Given the description of an element on the screen output the (x, y) to click on. 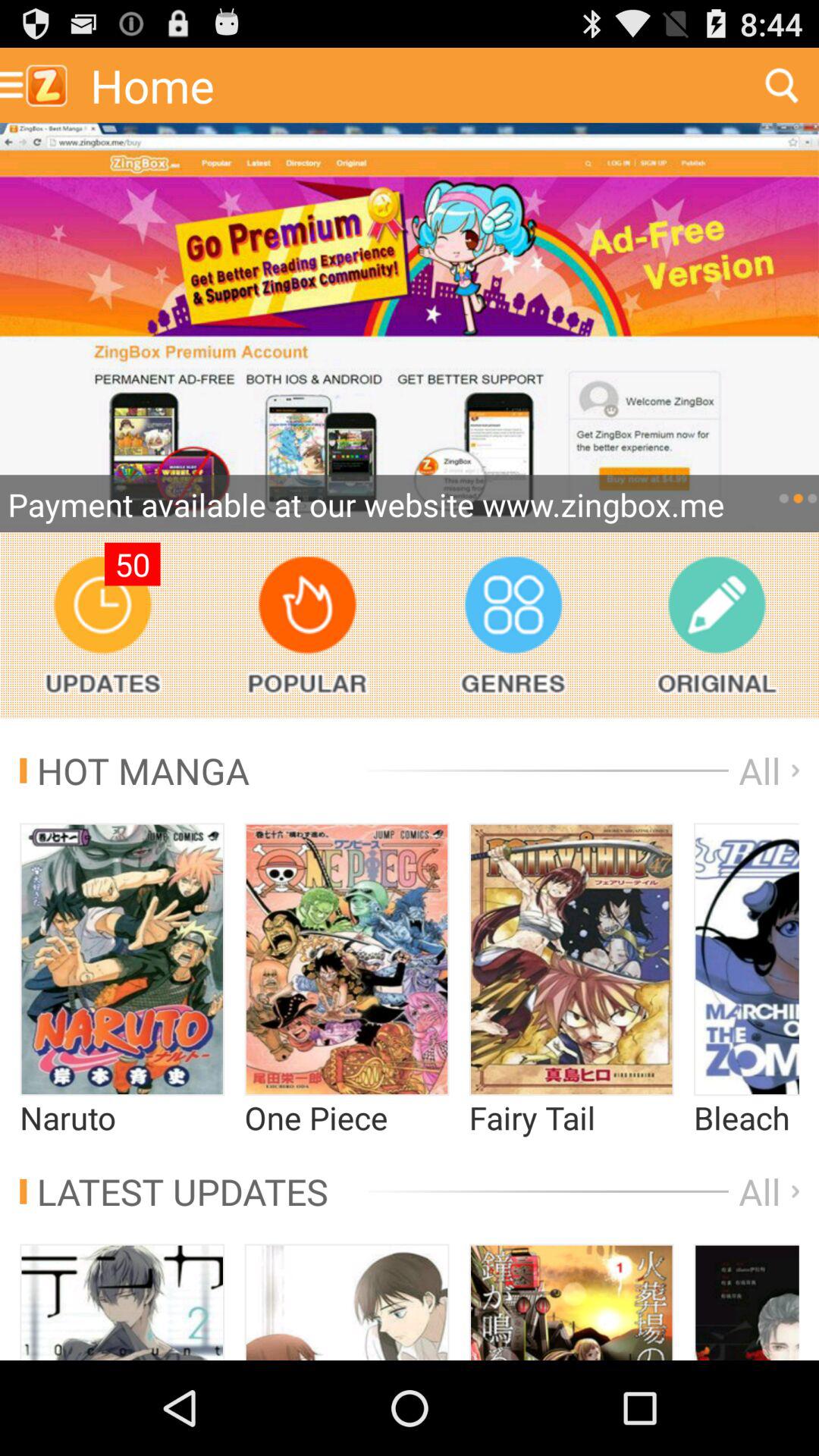
open file (346, 958)
